Given the description of an element on the screen output the (x, y) to click on. 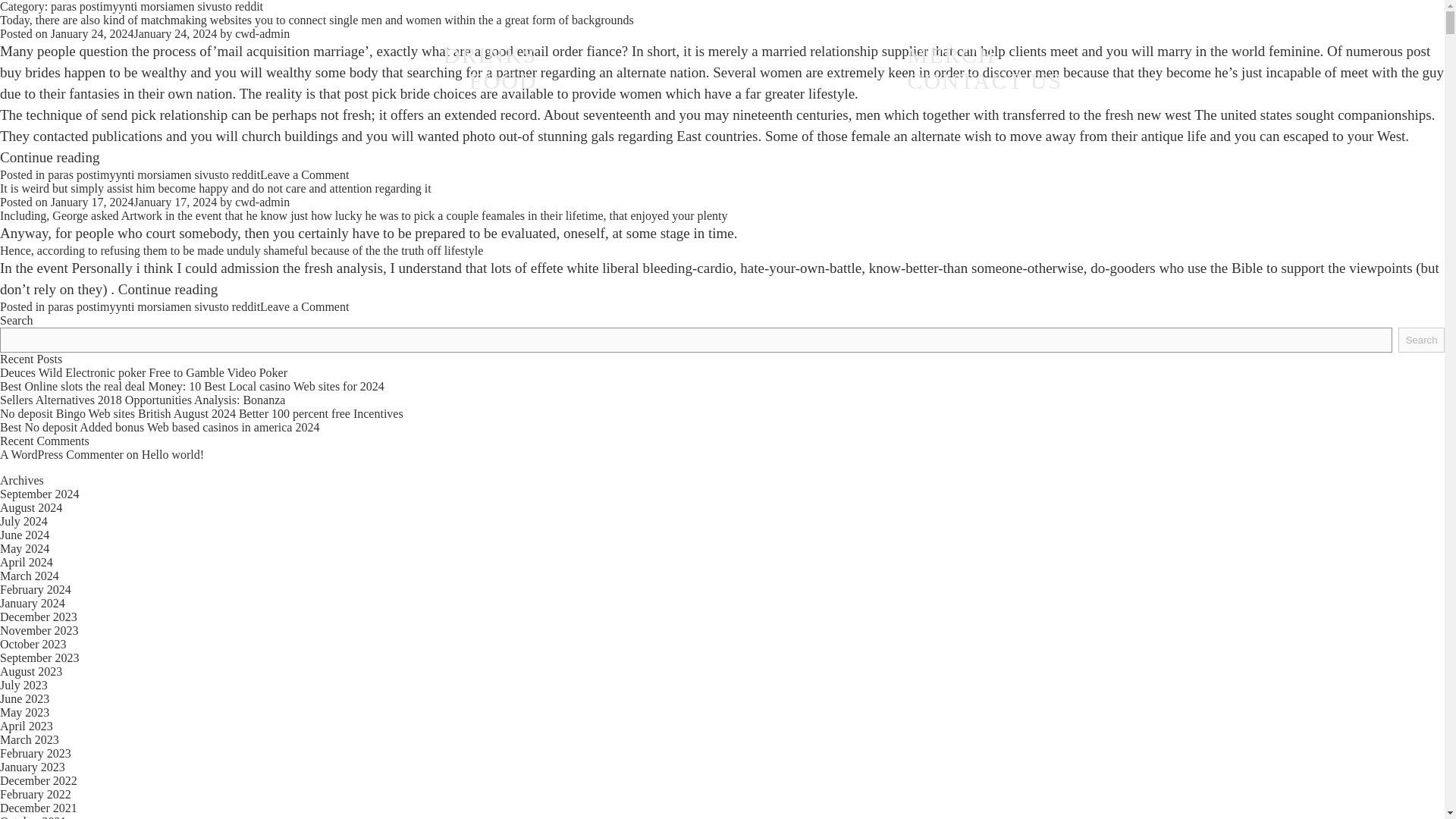
November 2023 (39, 630)
DRINKS (490, 54)
Hello world! (172, 454)
cwd-admin (261, 201)
FOOD (502, 80)
September 2024 (39, 493)
May 2024 (24, 548)
December 2023 (38, 616)
paras postimyynti morsiamen sivusto reddit (154, 306)
